Given the description of an element on the screen output the (x, y) to click on. 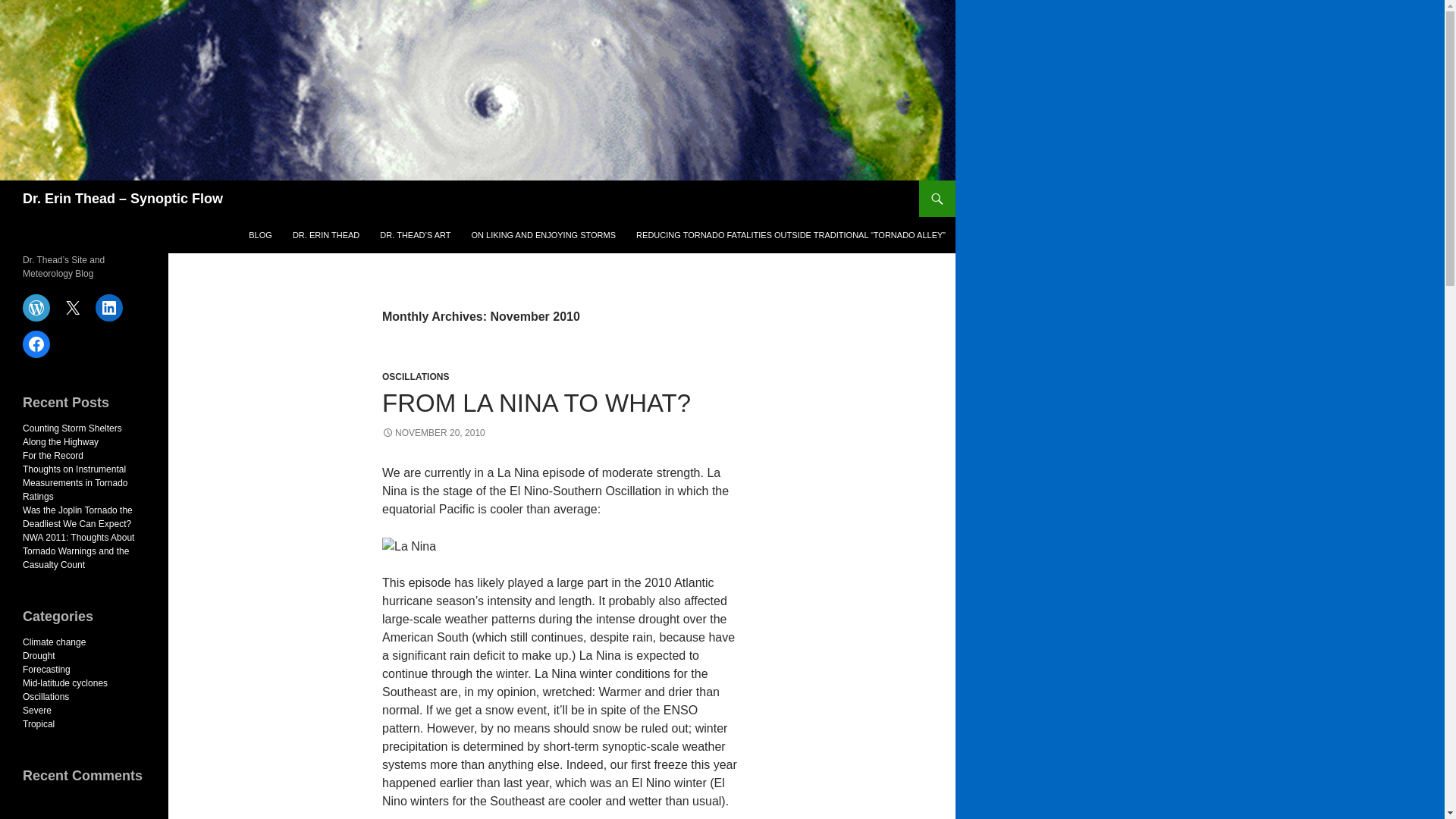
Was the Joplin Tornado the Deadliest We Can Expect? (77, 517)
ON LIKING AND ENJOYING STORMS (544, 235)
Oscillations (45, 696)
BLOG (260, 235)
Counting Storm Shelters Along the Highway (72, 435)
X (72, 307)
Climate change (54, 642)
For the Record (52, 455)
Drought (39, 655)
Mid-latitude cyclones (65, 683)
Tropical (39, 724)
Severe (36, 710)
Thoughts on Instrumental Measurements in Tornado Ratings (75, 483)
LinkedIn (109, 307)
